Given the description of an element on the screen output the (x, y) to click on. 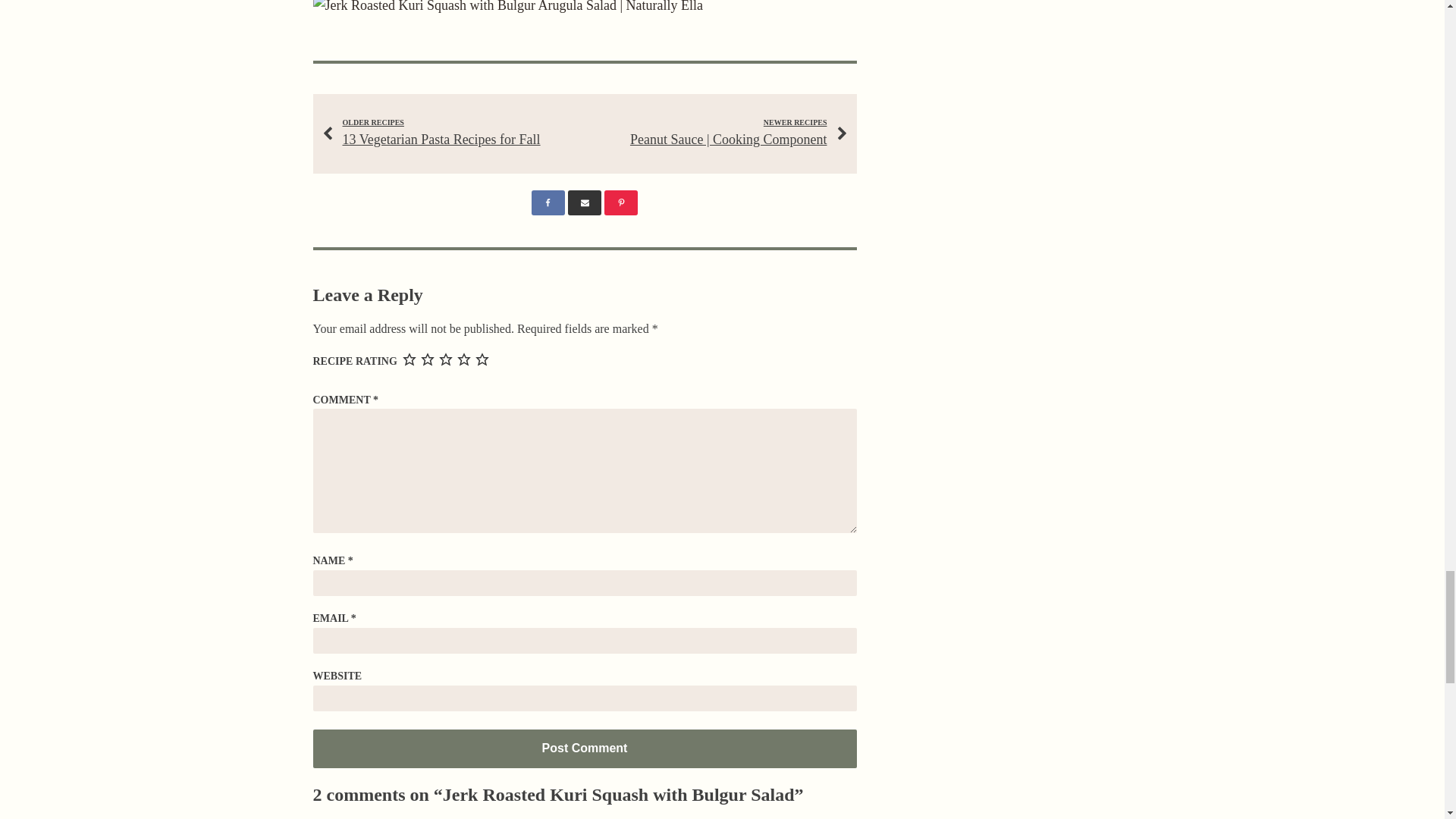
Post Comment (584, 748)
Post Comment (584, 748)
